Given the description of an element on the screen output the (x, y) to click on. 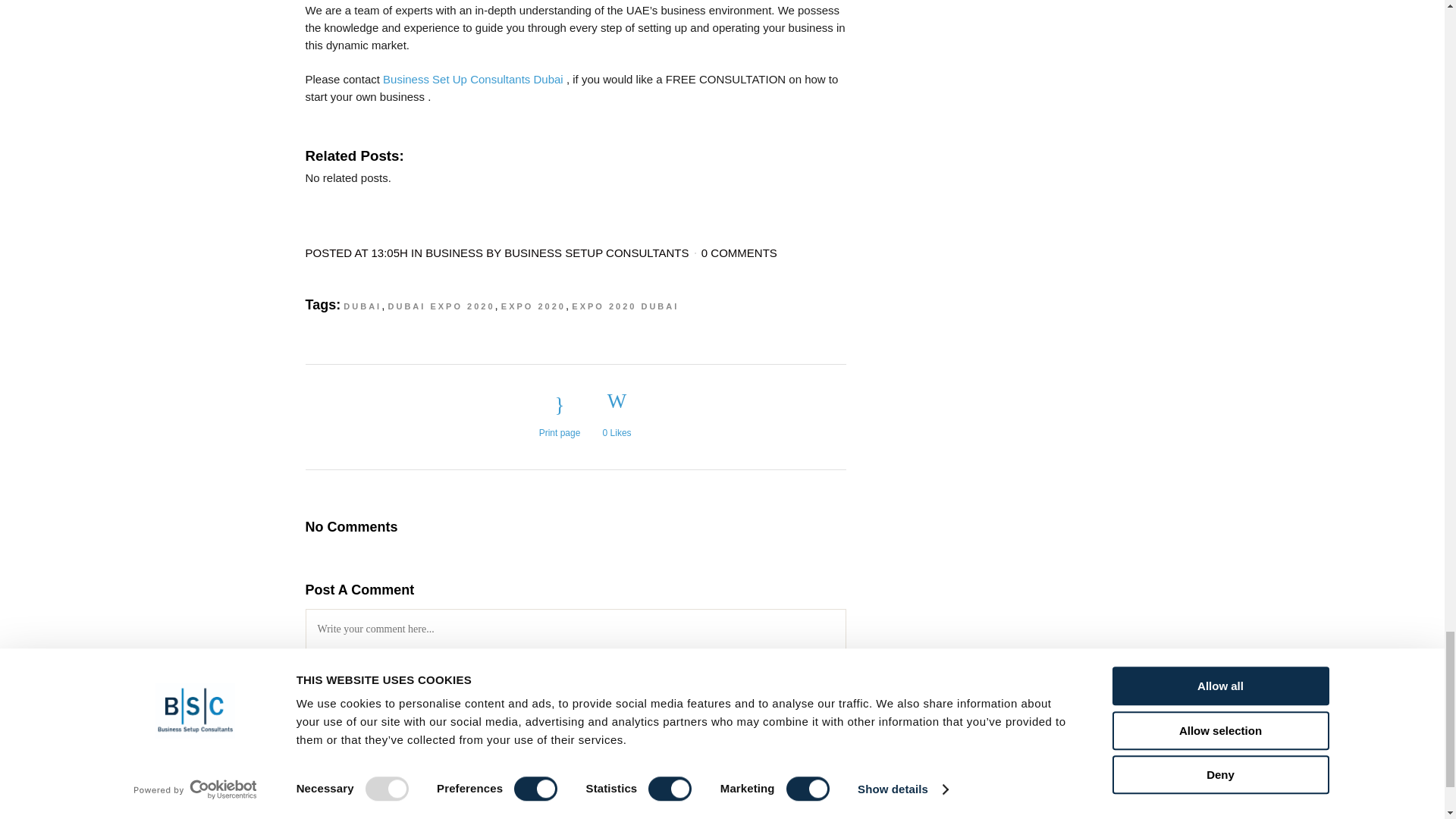
yes (312, 797)
Submit (799, 816)
